Given the description of an element on the screen output the (x, y) to click on. 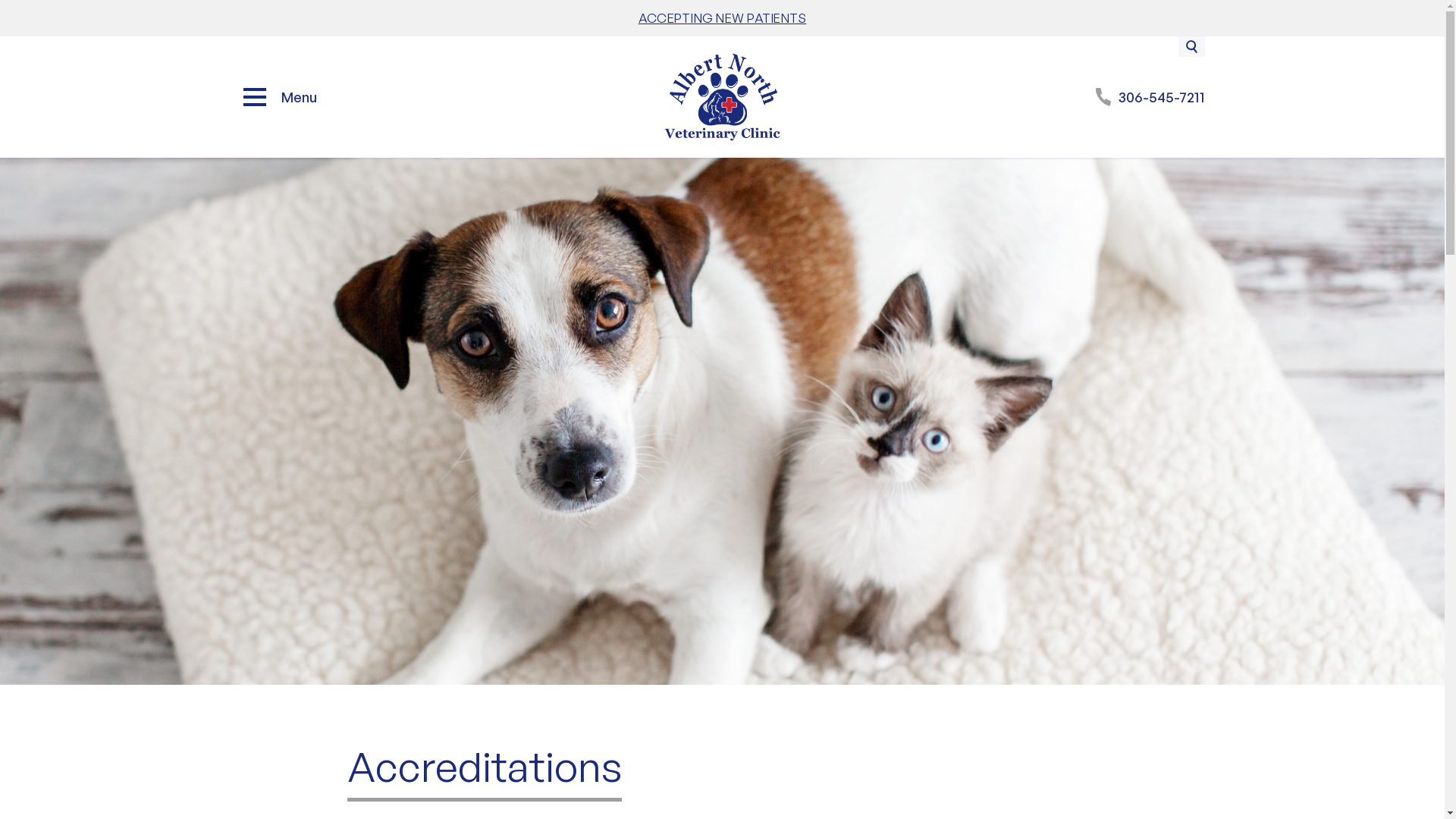
ACCEPTING NEW PATIENTS Element type: text (722, 17)
306-545-7211 Element type: text (1149, 96)
Menu Element type: text (279, 96)
